Given the description of an element on the screen output the (x, y) to click on. 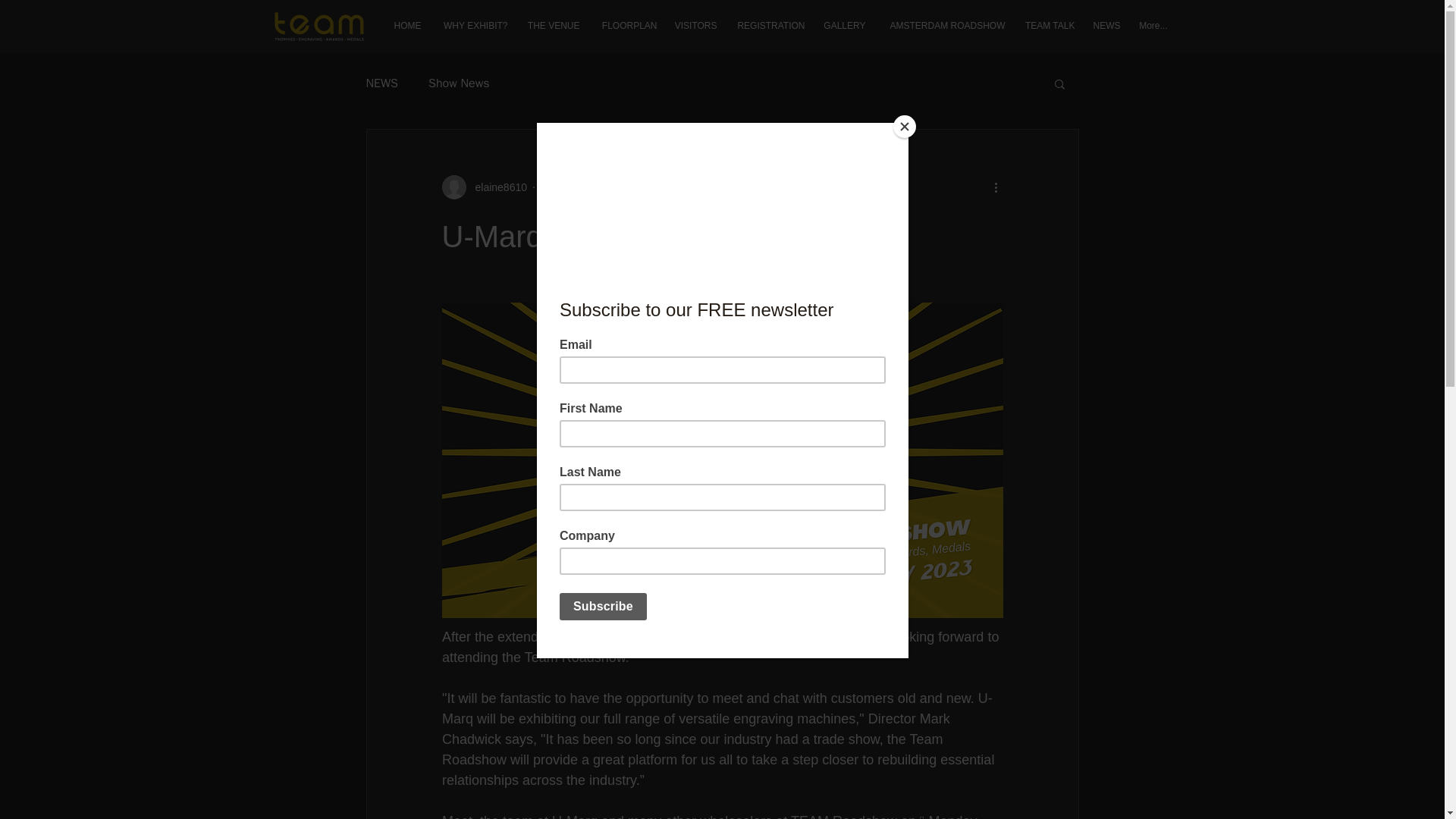
HOME (405, 26)
elaine8610 (496, 186)
Show News (458, 83)
VISITORS (693, 26)
TEAM TALK (1048, 26)
REGISTRATION (768, 26)
THE VENUE (551, 26)
AMSTERDAM ROADSHOW (943, 26)
1 min read (641, 186)
FLOORPLAN (624, 26)
GALLERY (842, 26)
NEWS (381, 83)
NEWS (1105, 26)
Nov 29, 2022 (572, 186)
WHY EXHIBIT? (472, 26)
